Given the description of an element on the screen output the (x, y) to click on. 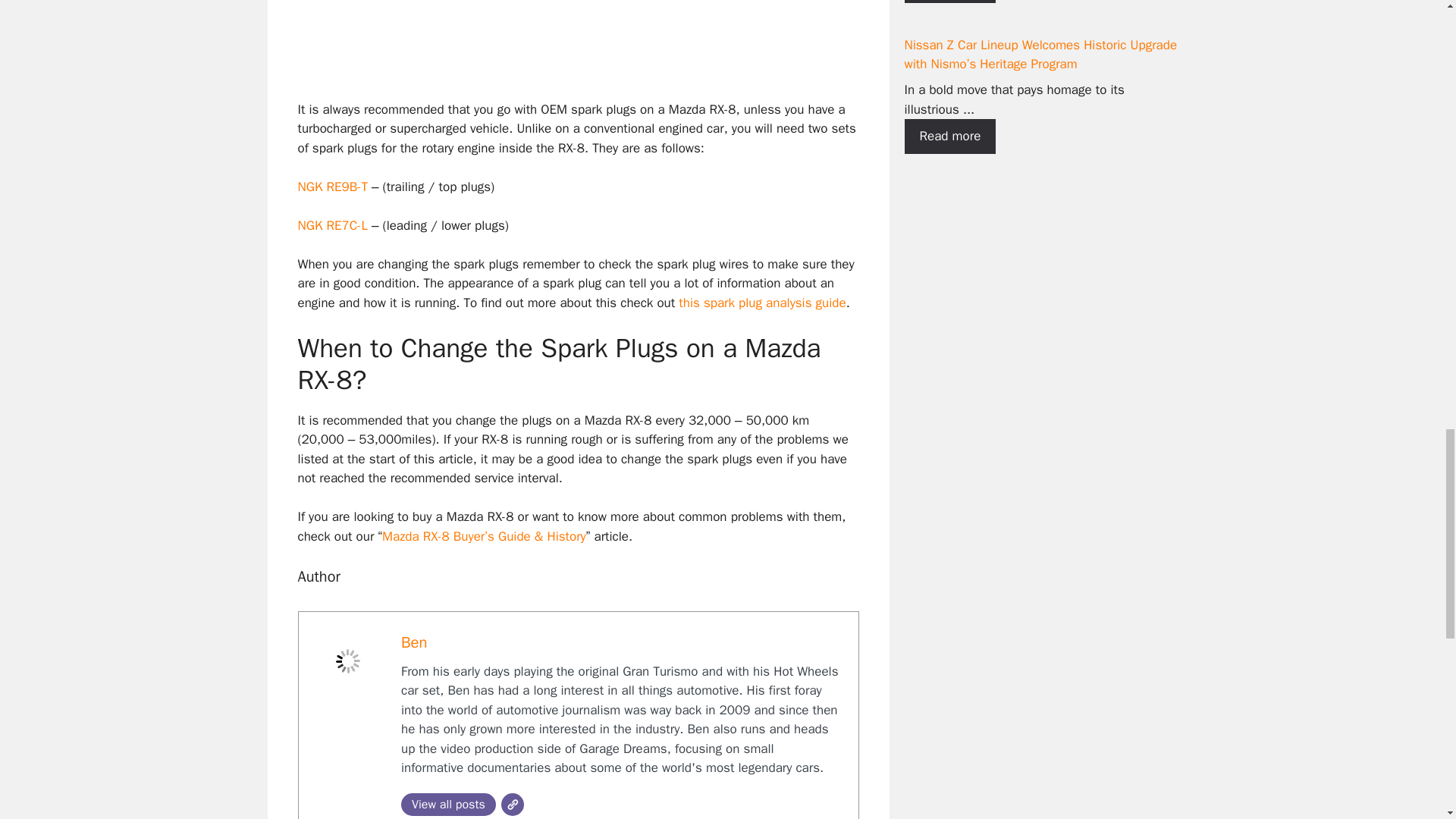
View all posts (448, 804)
NGK RE9B-T (331, 186)
View all posts (448, 804)
this spark plug analysis guide (761, 302)
Ben (414, 641)
NGK RE7C-L (331, 225)
Ben (414, 641)
